Given the description of an element on the screen output the (x, y) to click on. 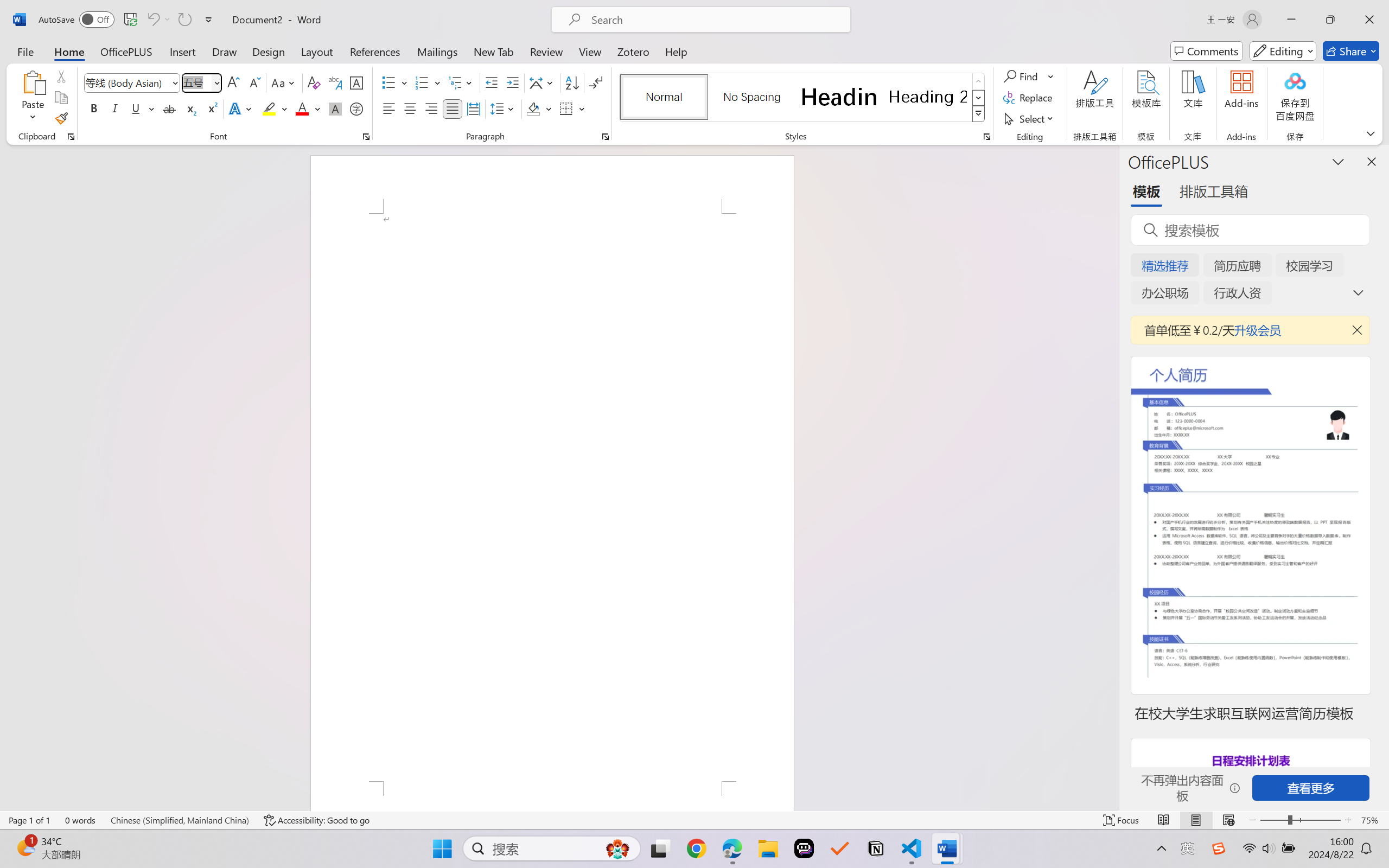
Bullets (395, 82)
Minimize (1291, 19)
More Options (1051, 75)
Can't Undo (158, 19)
Subscript (190, 108)
Center (409, 108)
Bullets (388, 82)
